Given the description of an element on the screen output the (x, y) to click on. 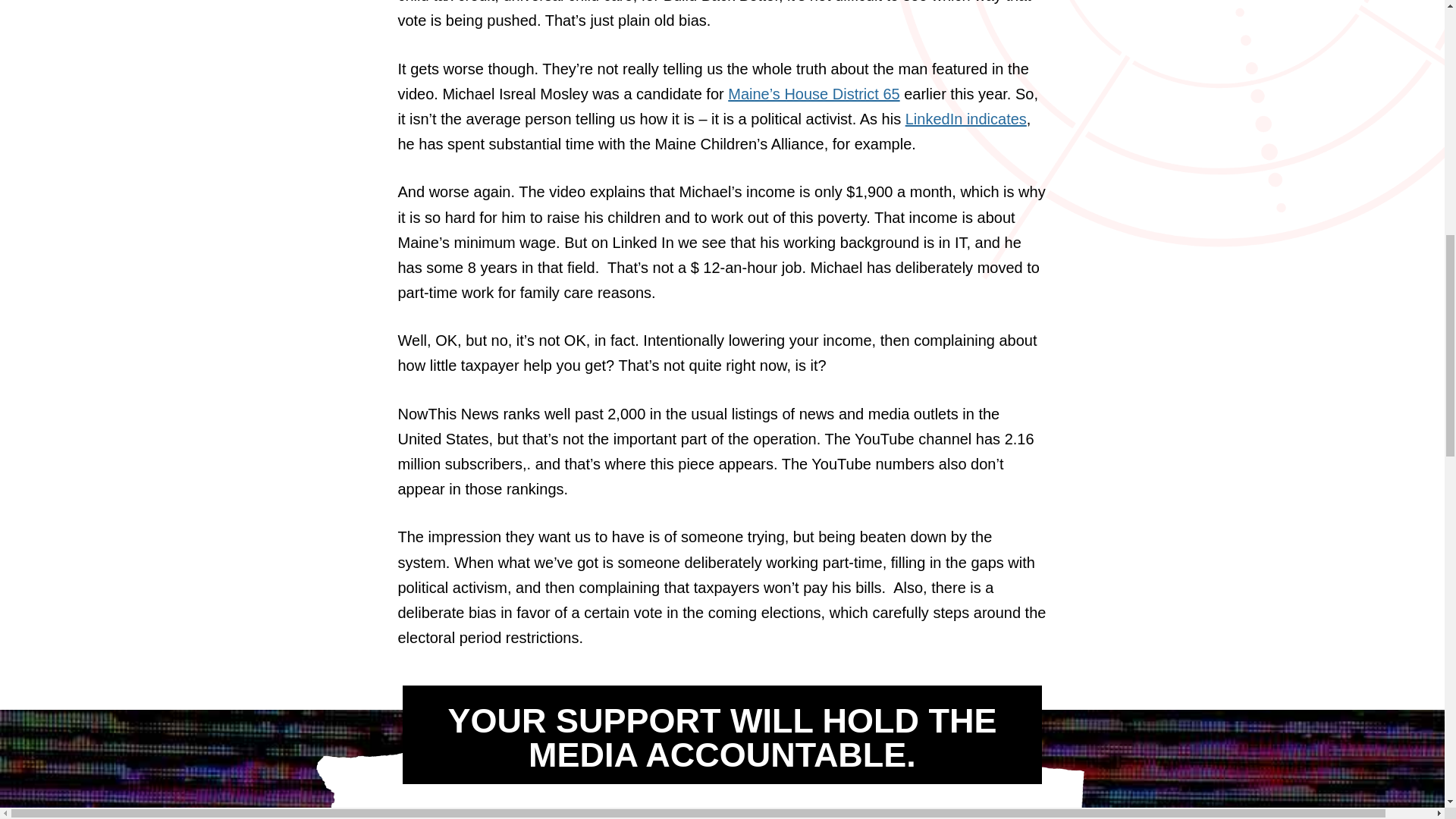
LinkedIn indicates (965, 118)
